Given the description of an element on the screen output the (x, y) to click on. 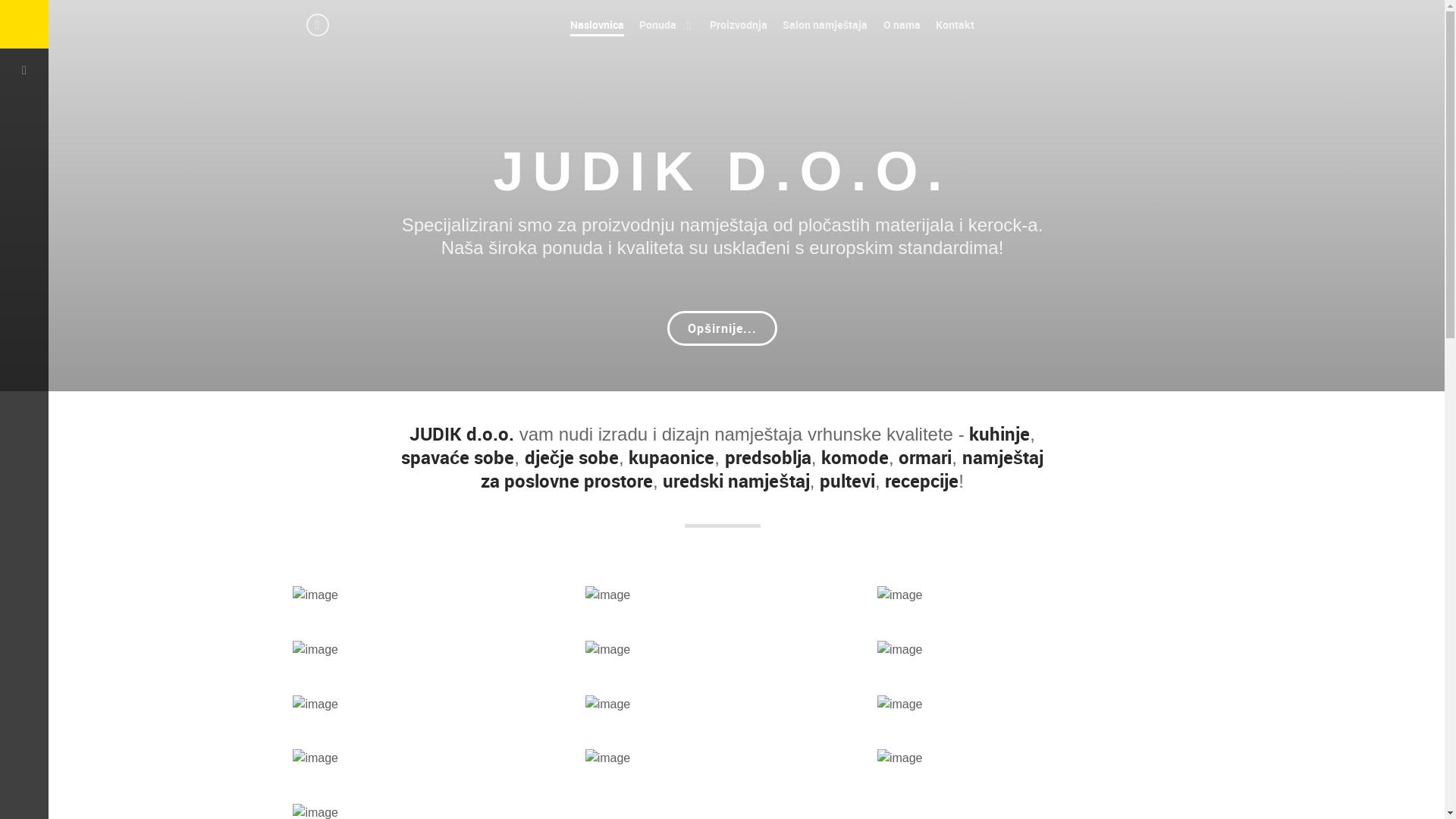
predsoblja Element type: text (767, 457)
KE
RROCK Element type: text (989, 706)
ormari Element type: text (924, 457)
JUDIK d.o.o. Element type: text (461, 433)
recepcije Element type: text (921, 480)
OR
MARI Element type: text (667, 651)
KUHI
NJE Element type: text (664, 542)
kupaonice Element type: text (671, 457)
Kontakt Element type: text (954, 24)
Proizvodnja Element type: text (738, 24)
STOLOVI
RAZNI Element type: text (1008, 651)
PRED
SOBLJA Element type: text (999, 597)
TV
KOMODE Element type: text (427, 651)
kuhinje Element type: text (999, 433)
Naslovnica Element type: text (597, 24)
pultevi Element type: text (847, 480)
POSL.
PROSTORI Element type: text (446, 706)
O nama Element type: text (901, 24)
OSTALO Element type: text (416, 785)
NOVO U
PONUDI! Element type: text (419, 542)
komode Element type: text (854, 457)
KUPAO
NICE Element type: text (693, 597)
TURI
ZAM Element type: text (660, 706)
